Given the description of an element on the screen output the (x, y) to click on. 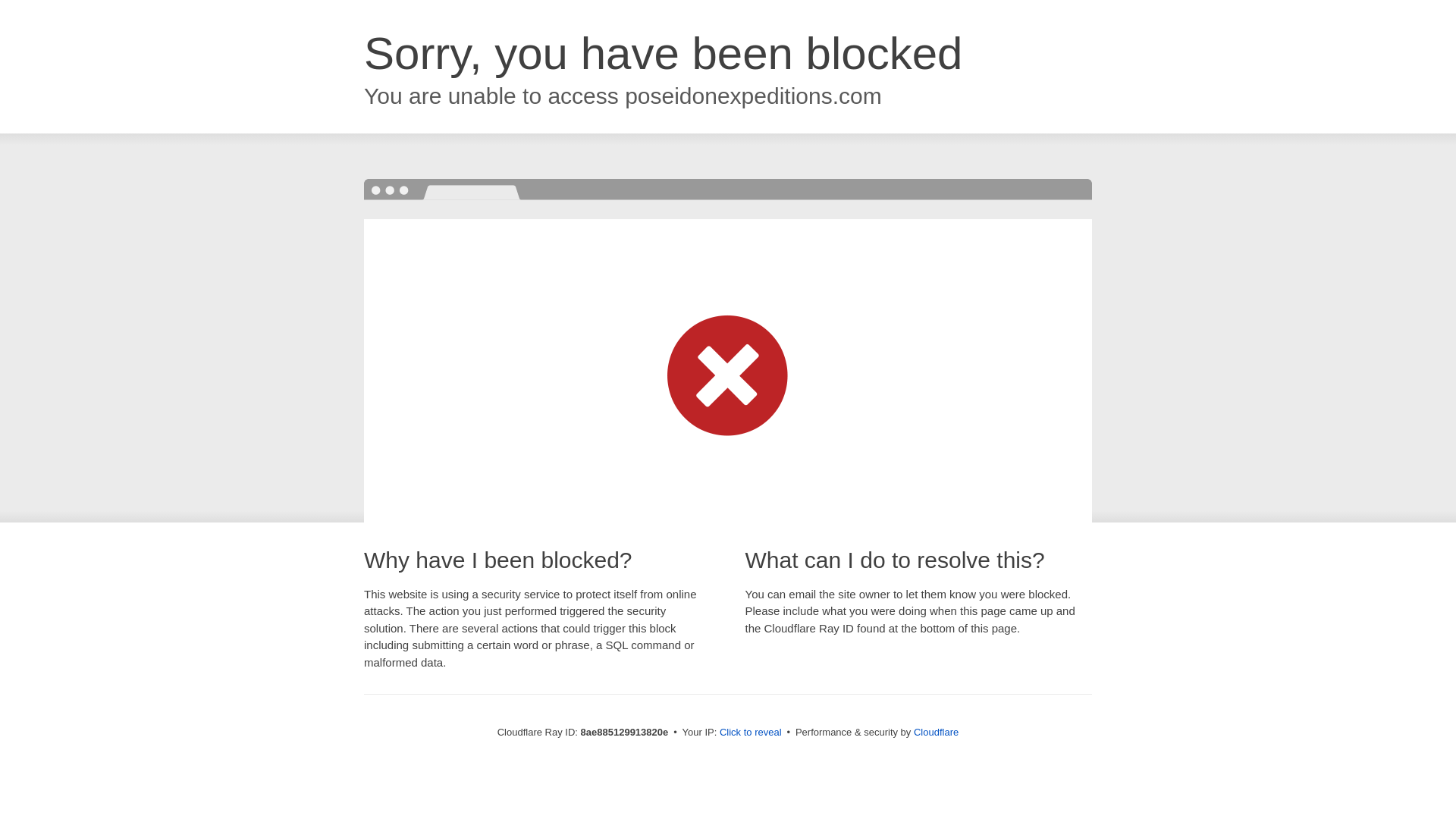
Cloudflare (936, 731)
Click to reveal (750, 732)
